Given the description of an element on the screen output the (x, y) to click on. 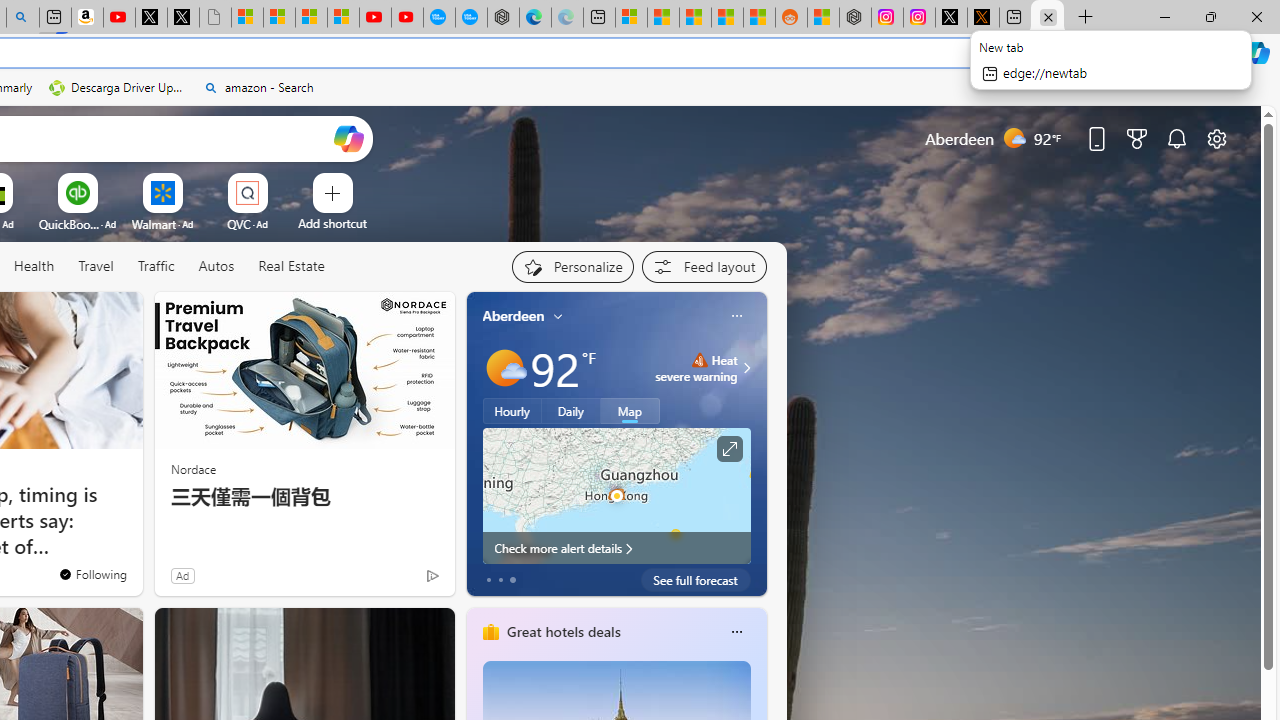
Day 1: Arriving in Yemen (surreal to be here) - YouTube (118, 17)
You're following FOX News (92, 573)
Heat - Severe Heat severe warning (696, 367)
Check more alert details (616, 547)
My location (558, 315)
Click to see more information (728, 449)
Shanghai, China Weather trends | Microsoft Weather (758, 17)
Daily (571, 411)
Shanghai, China hourly forecast | Microsoft Weather (694, 17)
Mostly sunny (504, 368)
